Given the description of an element on the screen output the (x, y) to click on. 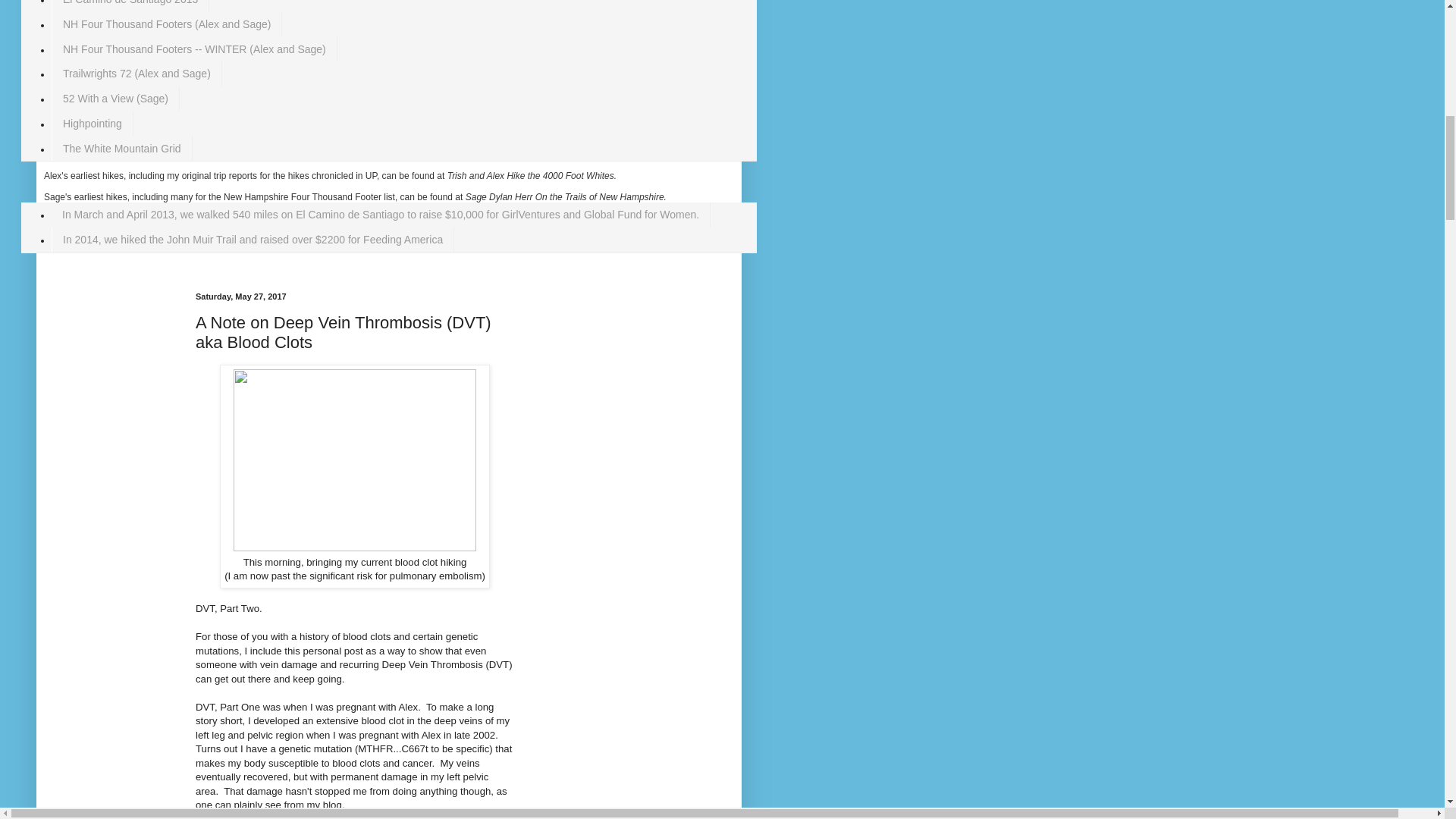
El Camino de Santiago 2013 (129, 6)
Highpointing (91, 122)
Sage Dylan Herr On the Trails of New Hampshire (564, 196)
Trish and Alex Hike the 4000 Foot Whites (530, 175)
The White Mountain Grid (121, 147)
